Given the description of an element on the screen output the (x, y) to click on. 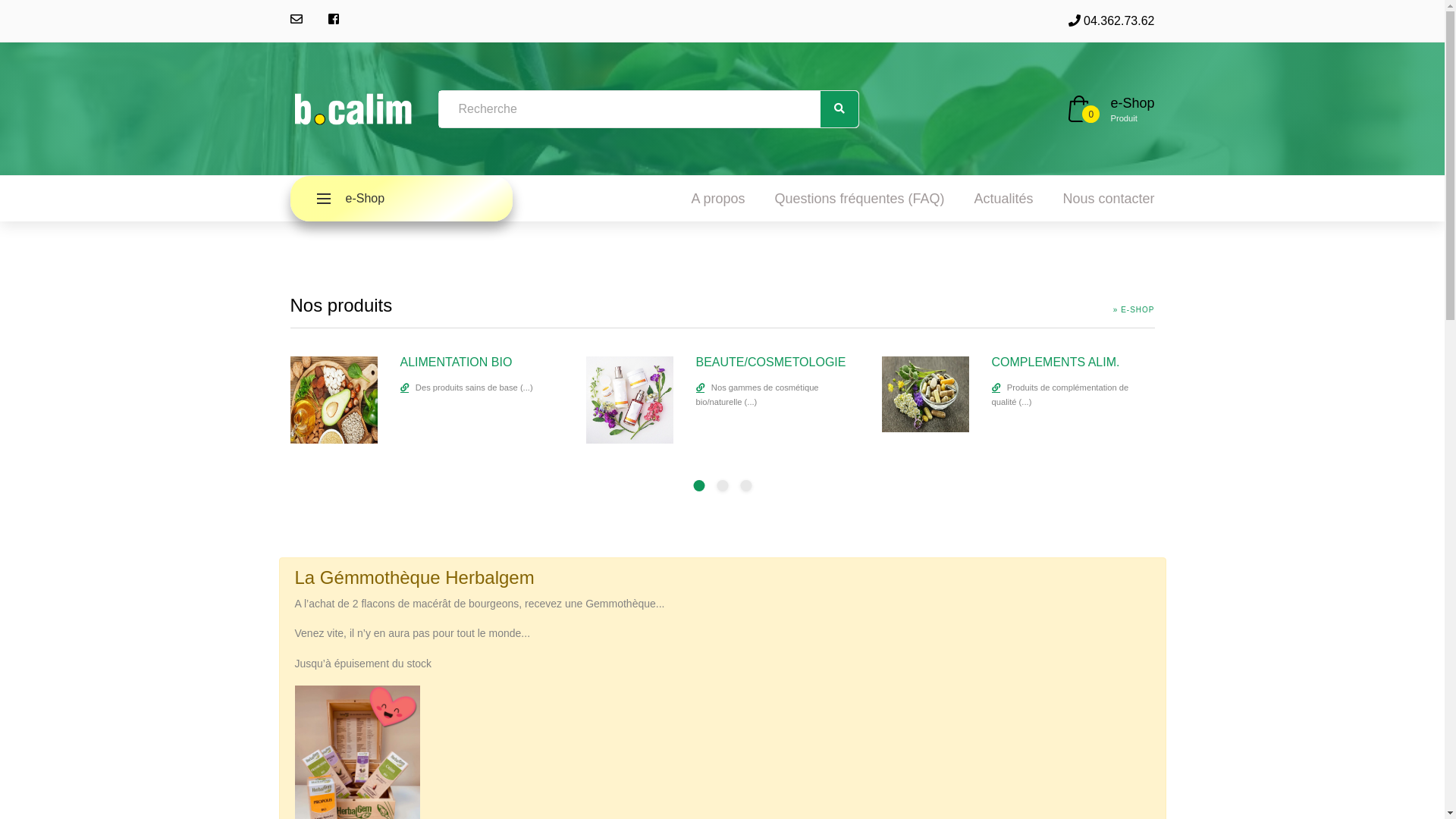
Nous contacter Element type: text (1108, 198)
BEAUTE/COSMETOLOGIE Element type: hover (628, 399)
Nous contacter Element type: hover (295, 18)
COMPLEMENTS ALIM. Element type: hover (924, 394)
Facebook - B-Calim sprl Element type: hover (332, 18)
BEAUTE/COSMETOLOGIE Element type: text (771, 361)
COMPLEMENTS ALIM. Element type: text (1055, 361)
04.362.73.62 Element type: text (1111, 20)
ALIMENTATION BIO Element type: hover (332, 399)
e-Shop Element type: text (1132, 102)
A propos Element type: text (718, 198)
ALIMENTATION BIO Element type: text (456, 361)
